Given the description of an element on the screen output the (x, y) to click on. 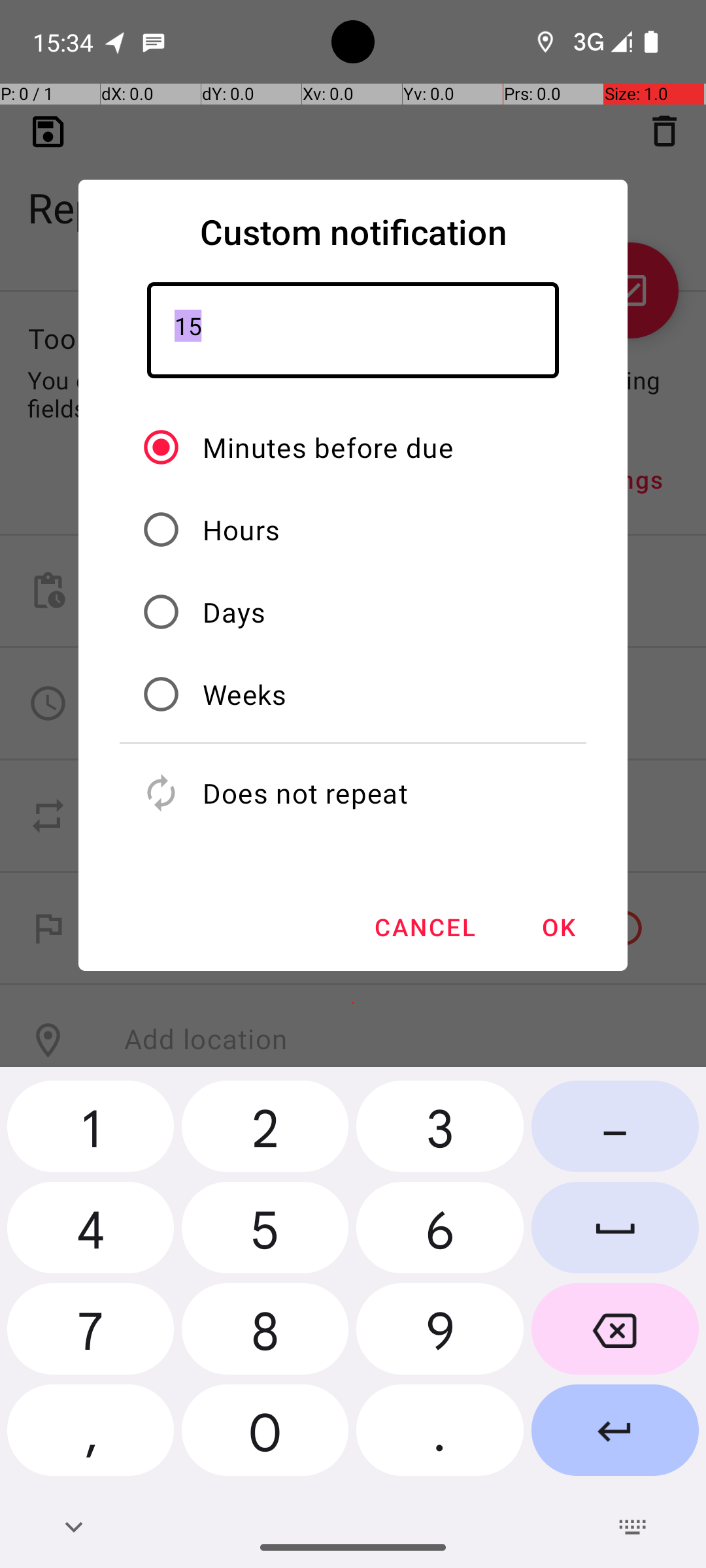
Custom notification Element type: android.widget.TextView (352, 231)
Minutes before due Element type: android.widget.TextView (327, 446)
Hours Element type: android.widget.TextView (241, 529)
Days Element type: android.widget.TextView (233, 611)
Weeks Element type: android.widget.TextView (244, 693)
